Given the description of an element on the screen output the (x, y) to click on. 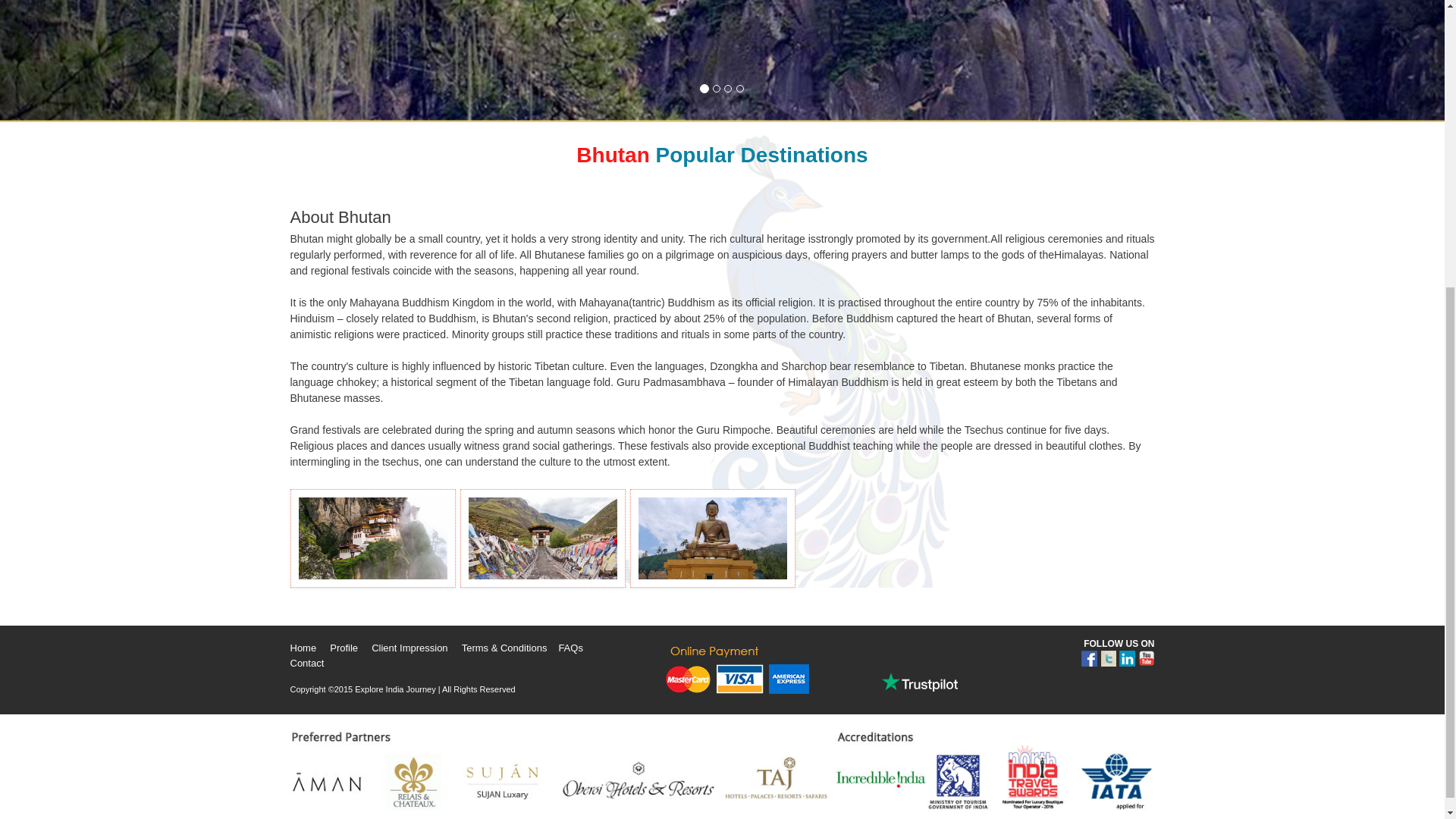
Previous (108, 60)
FAQs (570, 647)
Contact (306, 663)
Profile (344, 647)
Client Impression (408, 647)
Home (302, 647)
